Given the description of an element on the screen output the (x, y) to click on. 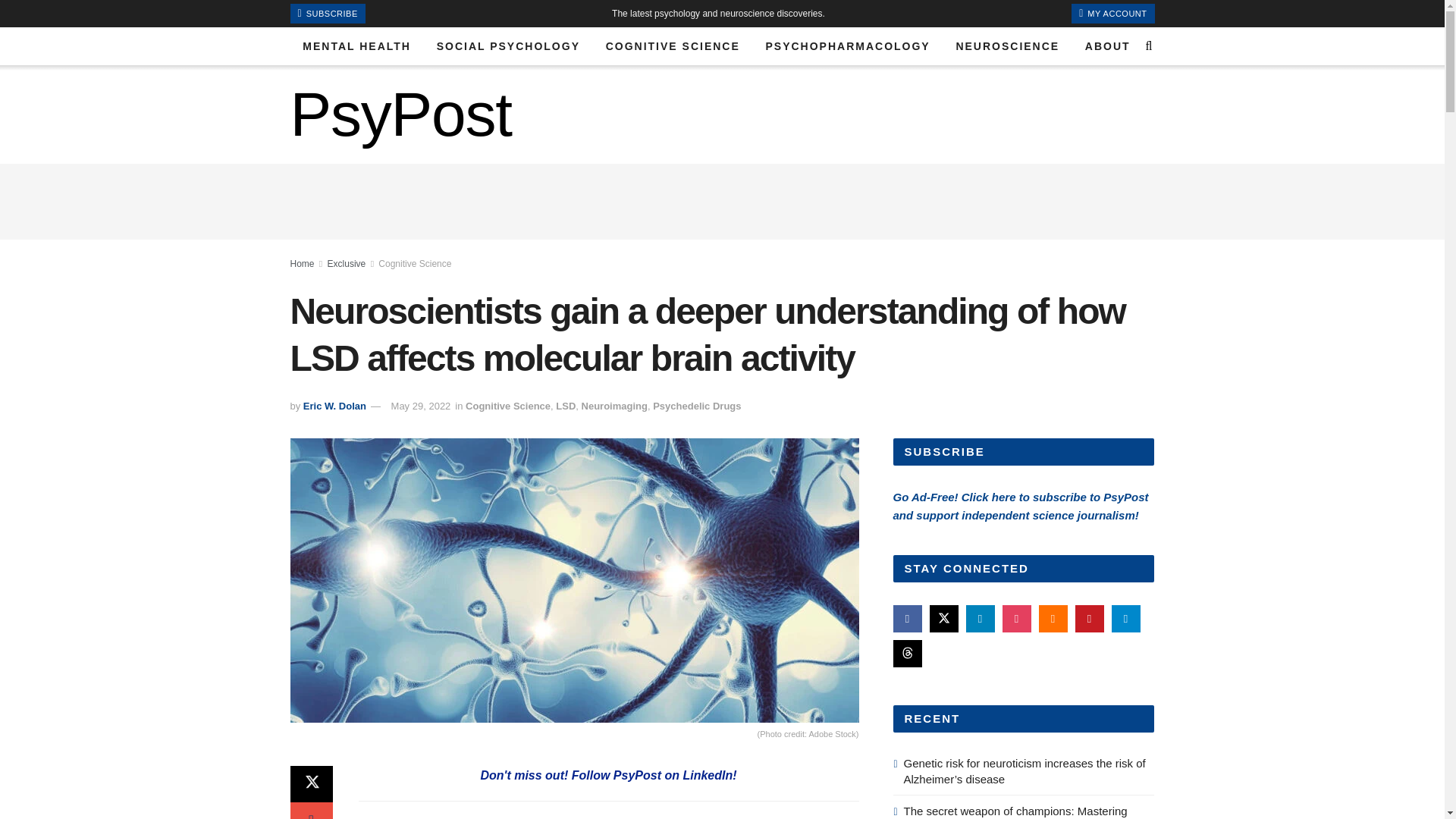
Home (301, 263)
MY ACCOUNT (1112, 13)
MENTAL HEALTH (356, 46)
Cognitive Science (414, 263)
Exclusive (346, 263)
Psychedelic Drugs (696, 405)
ABOUT (1106, 46)
PSYCHOPHARMACOLOGY (847, 46)
May 29, 2022 (421, 405)
NEUROSCIENCE (1007, 46)
PsyPost (400, 114)
Neuroimaging (613, 405)
SOCIAL PSYCHOLOGY (507, 46)
Cognitive Science (507, 405)
Don't miss out! Follow PsyPost on LinkedIn! (608, 775)
